Given the description of an element on the screen output the (x, y) to click on. 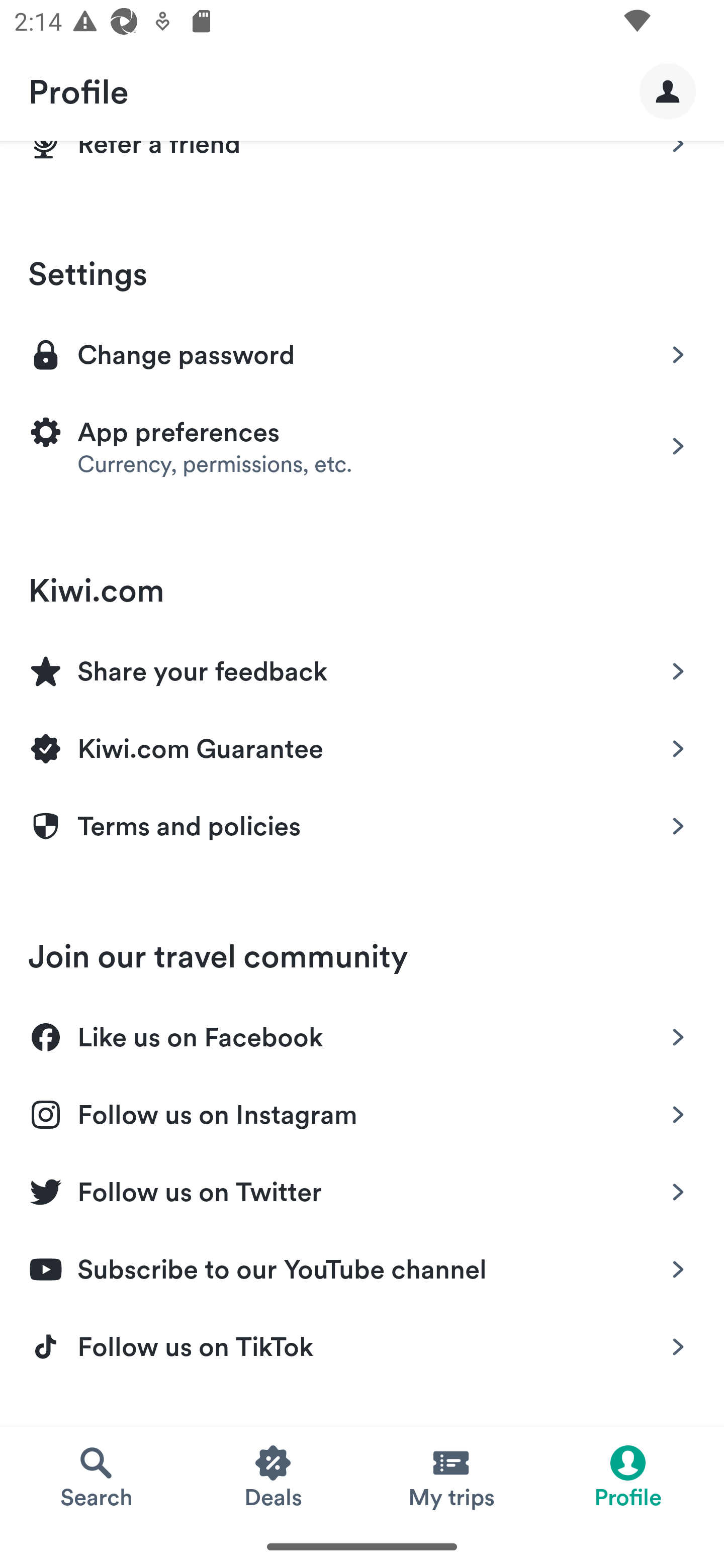
profile picture (667, 90)
Change password (362, 352)
App preferences Currency, permissions, etc. (362, 445)
Share your feedback (362, 667)
Kiwi.com Guarantee (362, 745)
Terms and policies (362, 826)
Like us on Facebook (362, 1033)
Follow us on Instagram (362, 1110)
Follow us on Twitter (362, 1188)
Subscribe to our YouTube channel (362, 1265)
Follow us on TikTok (362, 1346)
Search (95, 1475)
Deals (273, 1475)
My trips (450, 1475)
